Given the description of an element on the screen output the (x, y) to click on. 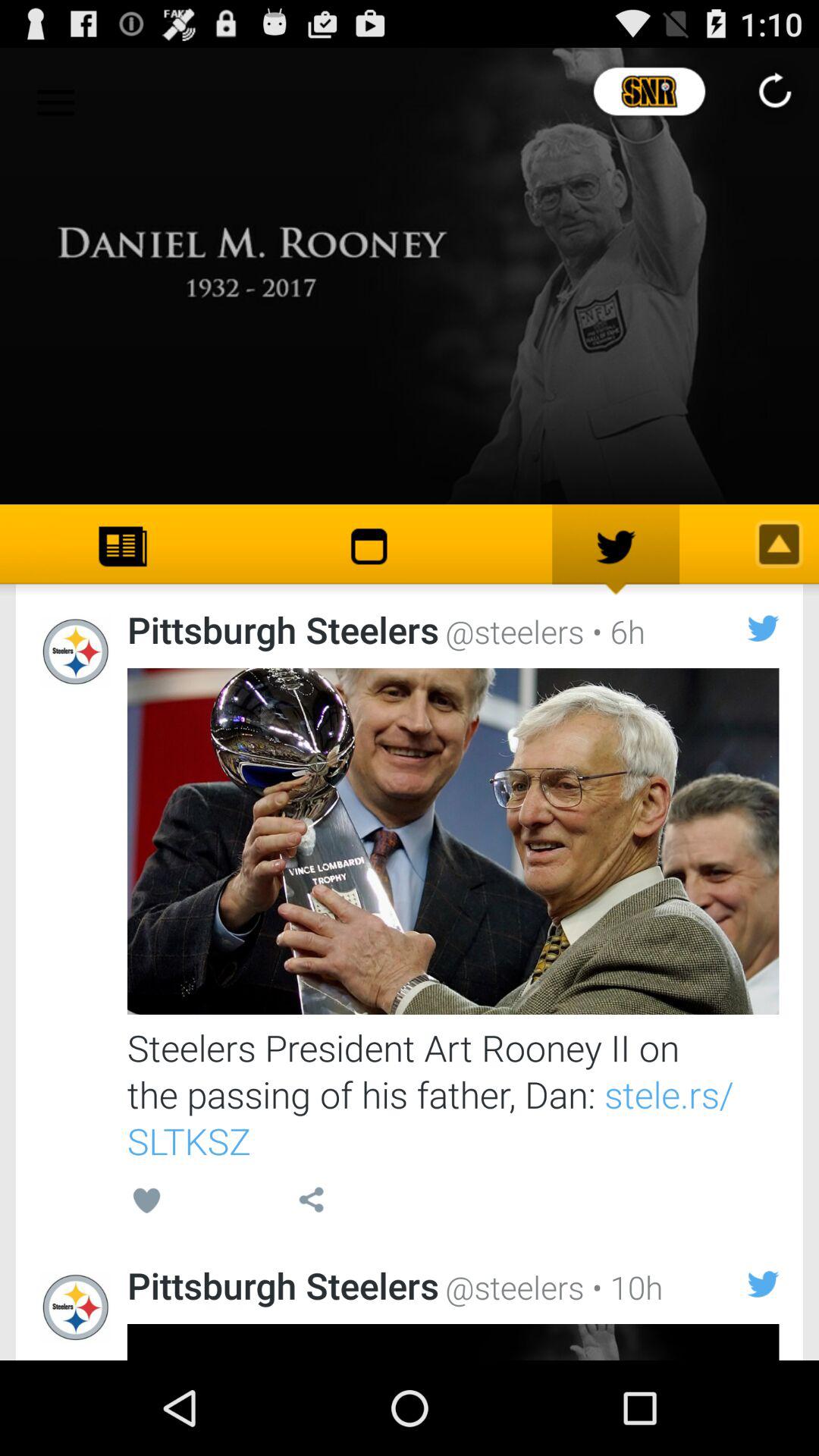
tap steelers president art item (453, 1094)
